Given the description of an element on the screen output the (x, y) to click on. 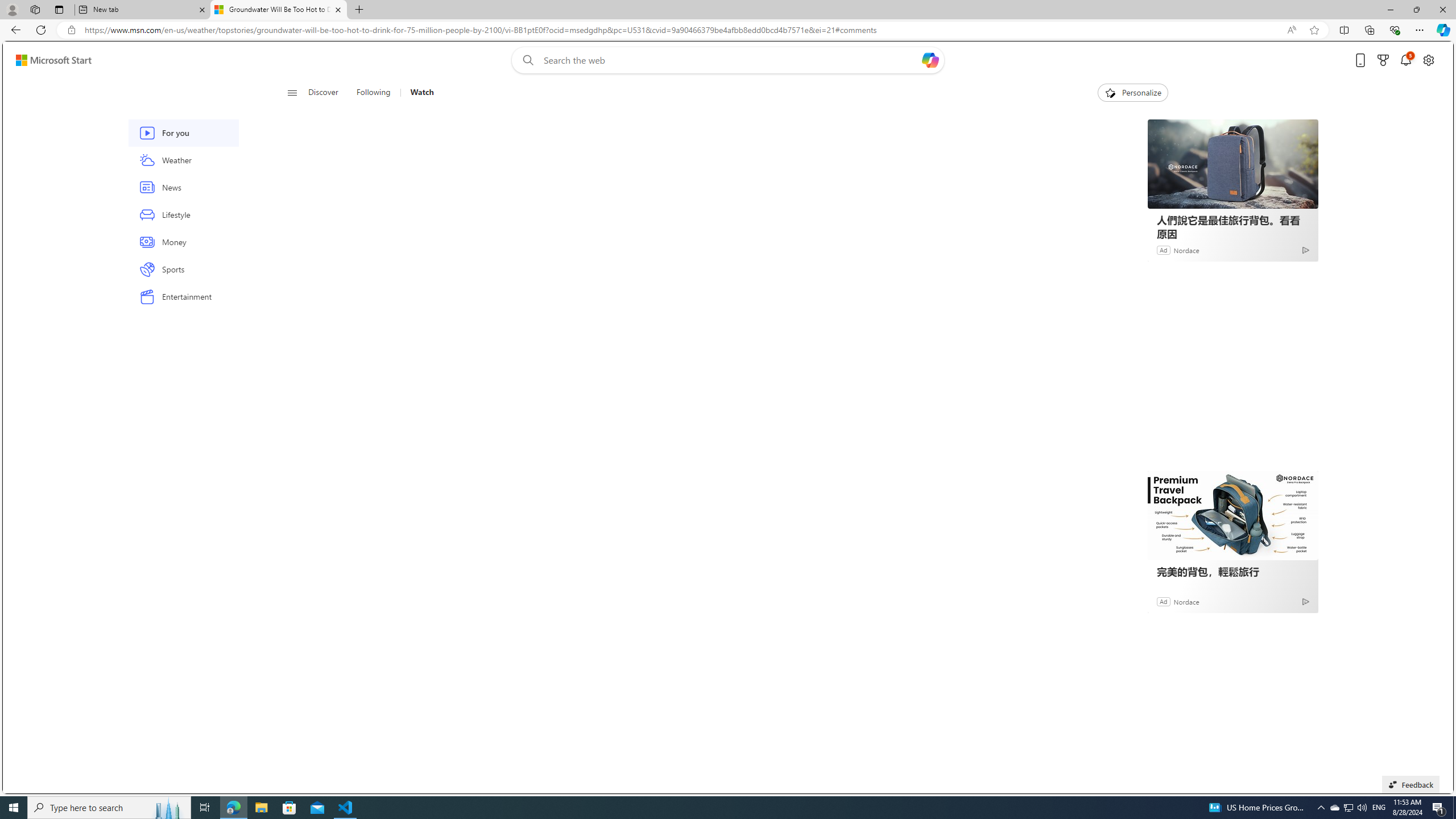
Skip to footer (46, 59)
Microsoft rewards (1382, 60)
Skip to content (49, 59)
